Given the description of an element on the screen output the (x, y) to click on. 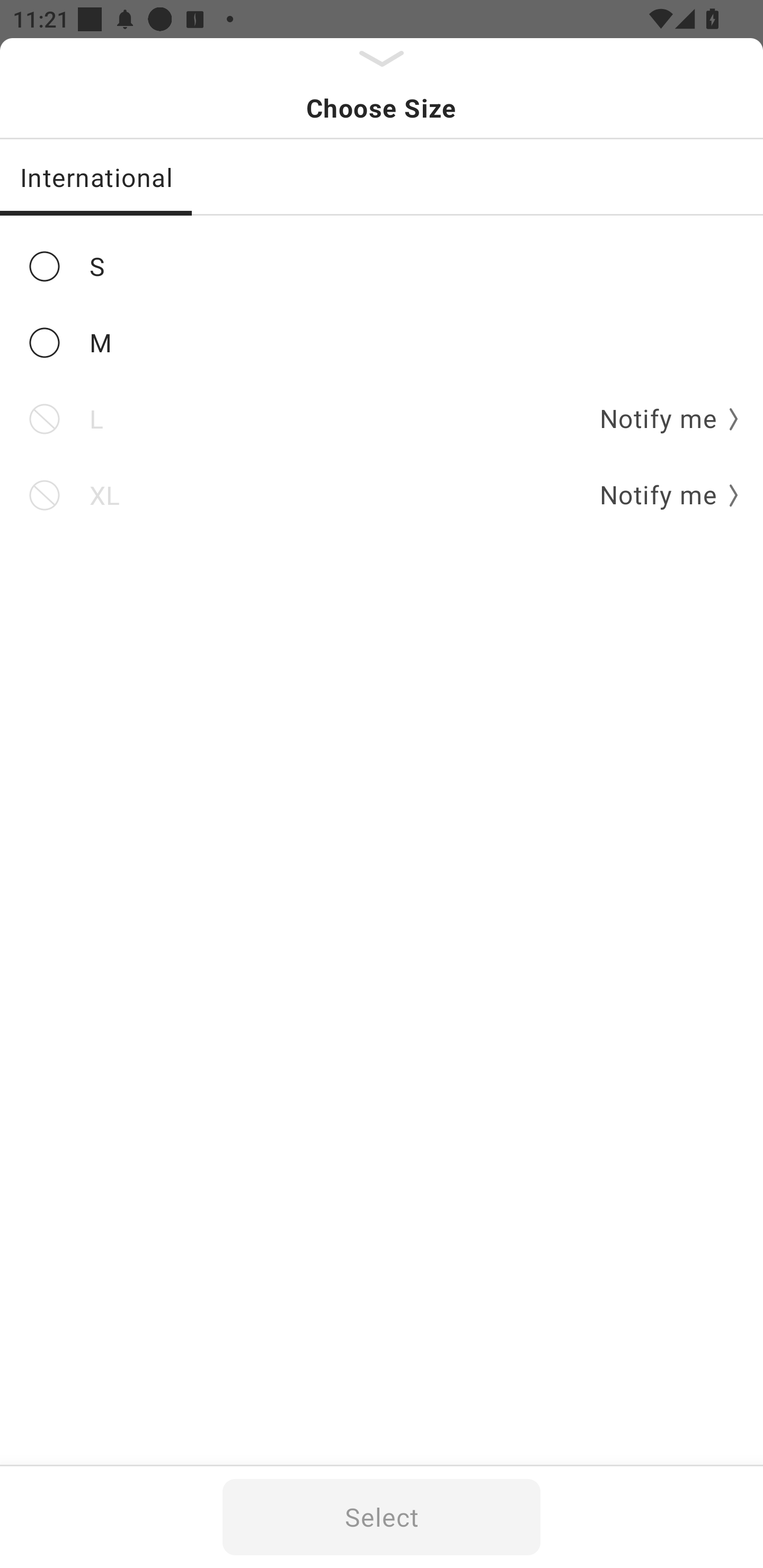
S (381, 266)
M (381, 342)
L Notify me (381, 419)
Notify me (661, 419)
XL Notify me (381, 495)
Notify me (661, 495)
Select (381, 1516)
